Given the description of an element on the screen output the (x, y) to click on. 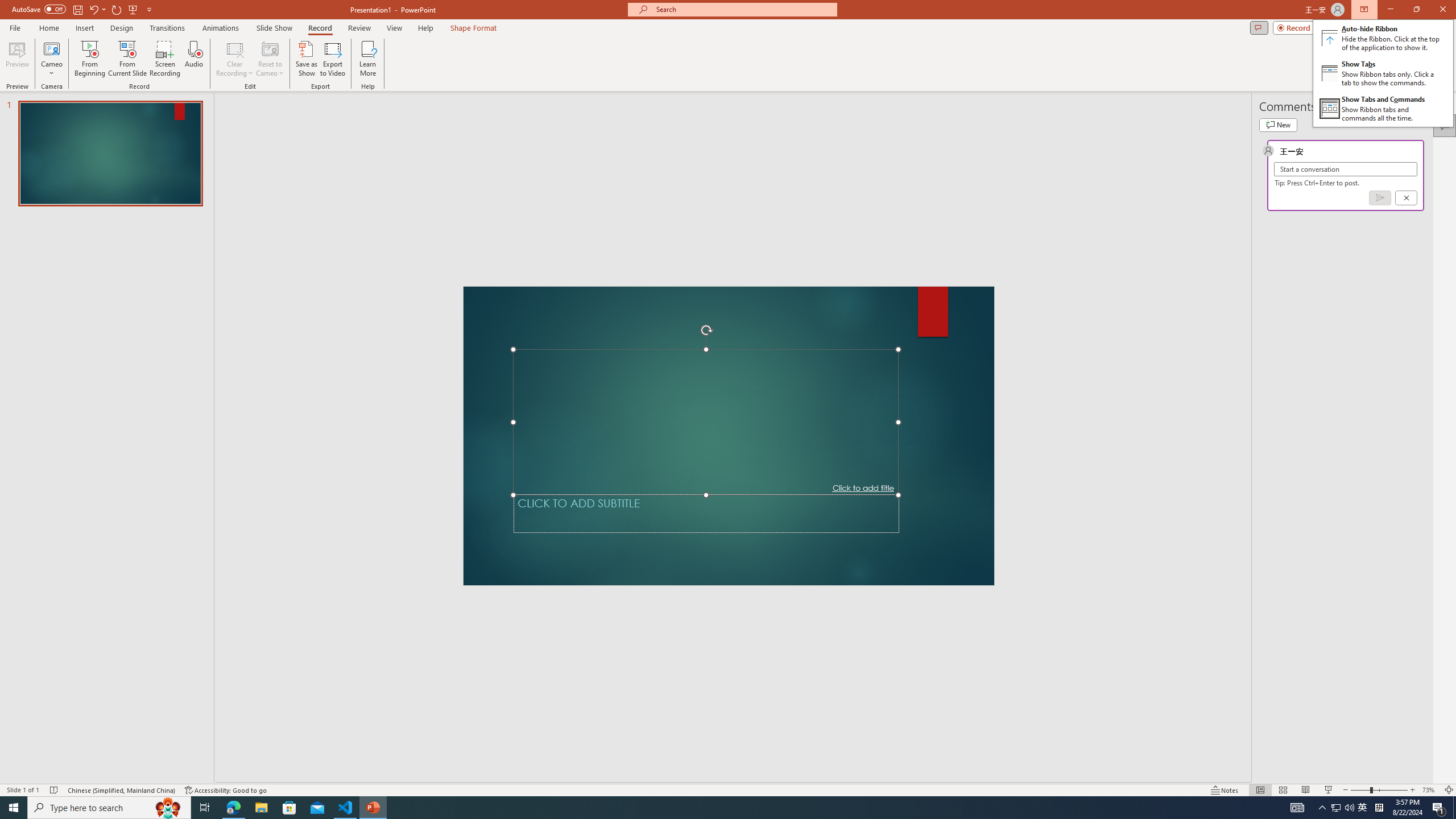
Title TextBox (705, 421)
Save as Show (306, 58)
Tray Input Indicator - Chinese (Simplified, China) (1378, 807)
Normal (1260, 790)
Cameo (51, 58)
Microsoft search (742, 9)
File Tab (15, 27)
AutomationID: 4105 (1297, 807)
Microsoft Store (289, 807)
Cancel (1362, 807)
